Given the description of an element on the screen output the (x, y) to click on. 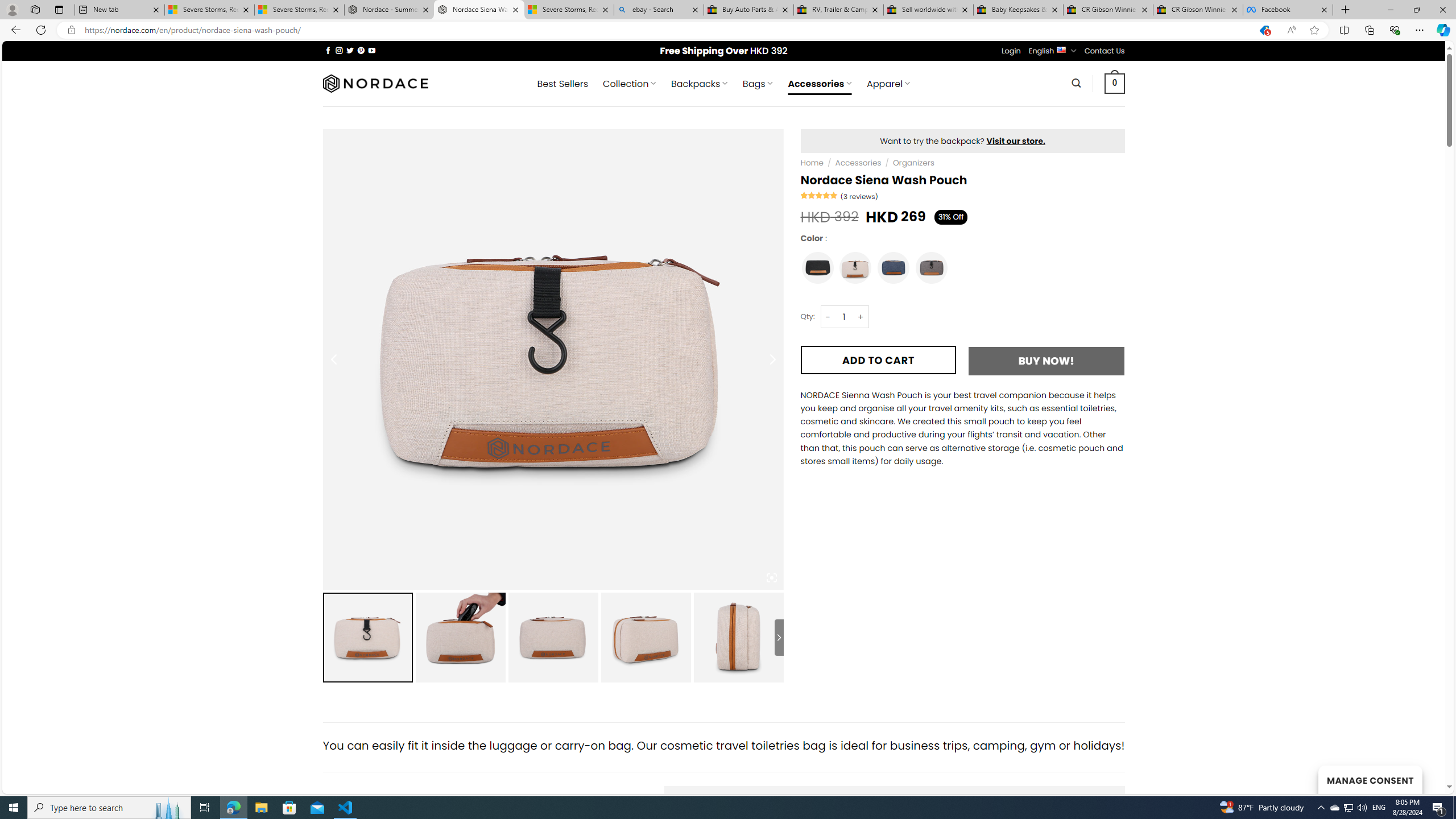
Follow on Pinterest (360, 49)
Follow on Instagram (338, 49)
BUY NOW! (1046, 360)
 Best Sellers (562, 83)
+ (861, 316)
Follow on Twitter (349, 49)
(3 reviews) (858, 196)
